Given the description of an element on the screen output the (x, y) to click on. 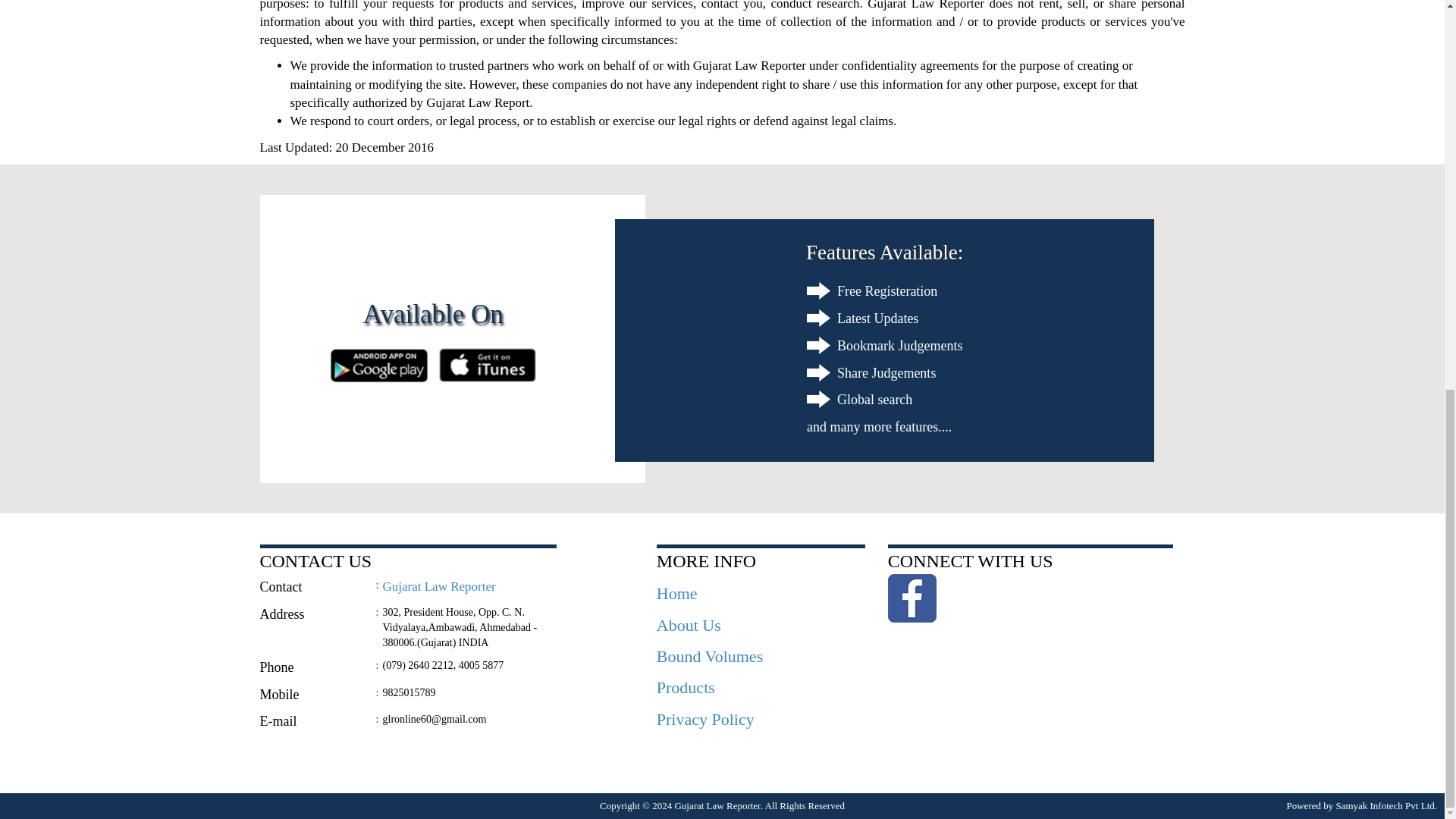
Products (685, 687)
Home (676, 592)
Powered by Samyak Infotech Pvt Ltd. (1361, 805)
About Us (688, 624)
Bound Volumes (709, 656)
Privacy Policy (705, 719)
